Given the description of an element on the screen output the (x, y) to click on. 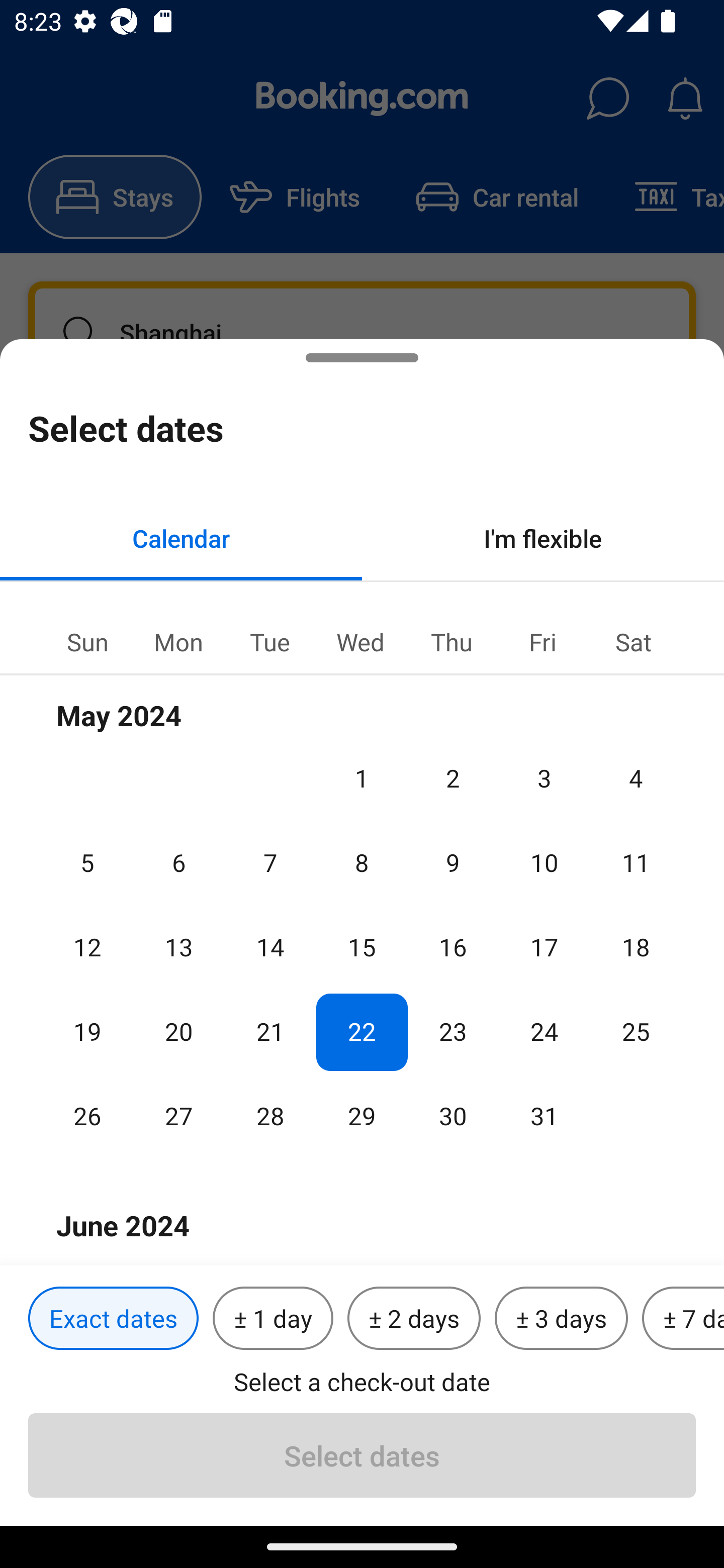
I'm flexible (543, 537)
Exact dates (113, 1318)
± 1 day (272, 1318)
± 2 days (413, 1318)
± 3 days (560, 1318)
± 7 days (683, 1318)
Select dates (361, 1454)
